Given the description of an element on the screen output the (x, y) to click on. 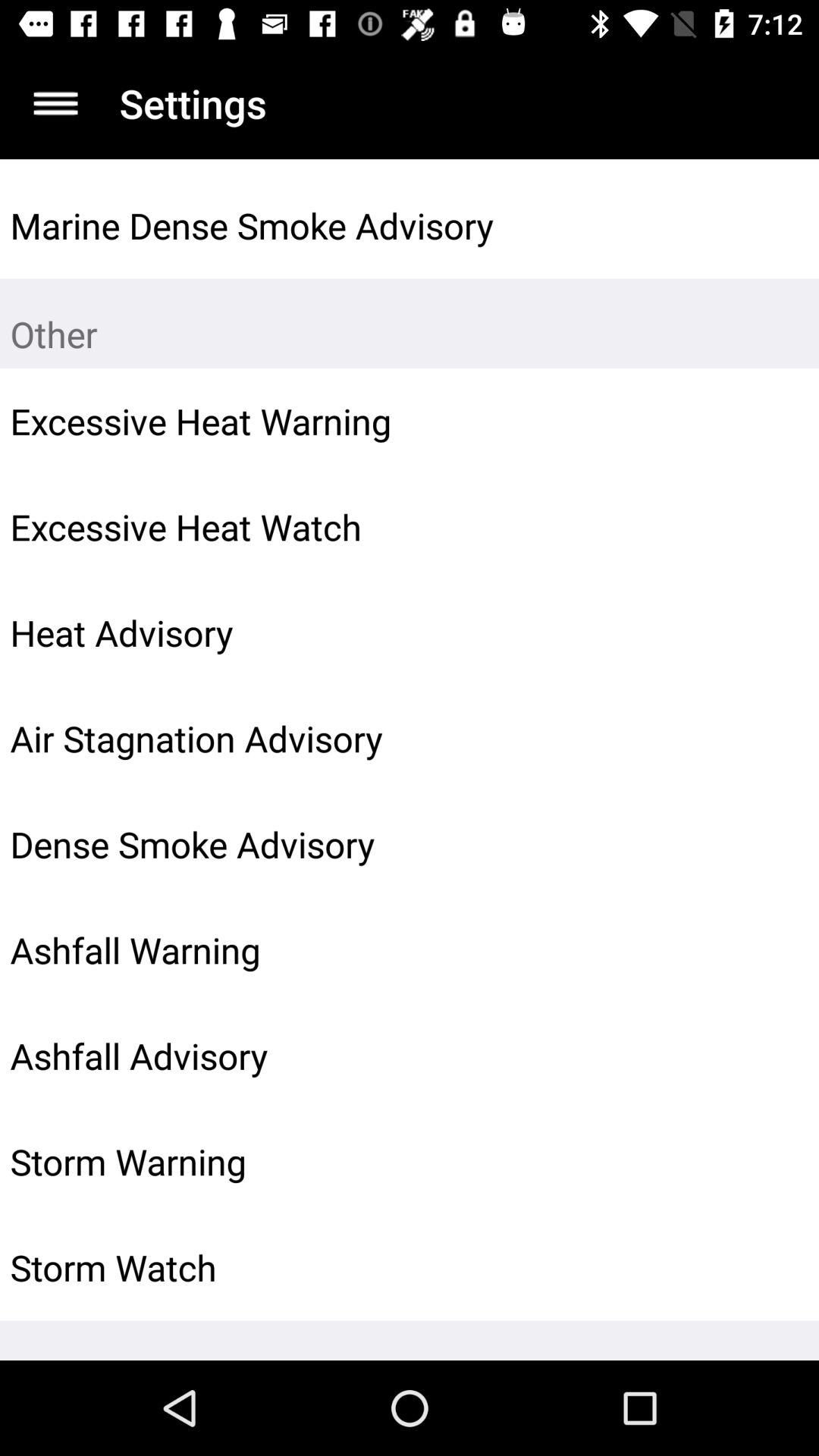
turn off the icon to the right of the storm warning icon (771, 1161)
